Given the description of an element on the screen output the (x, y) to click on. 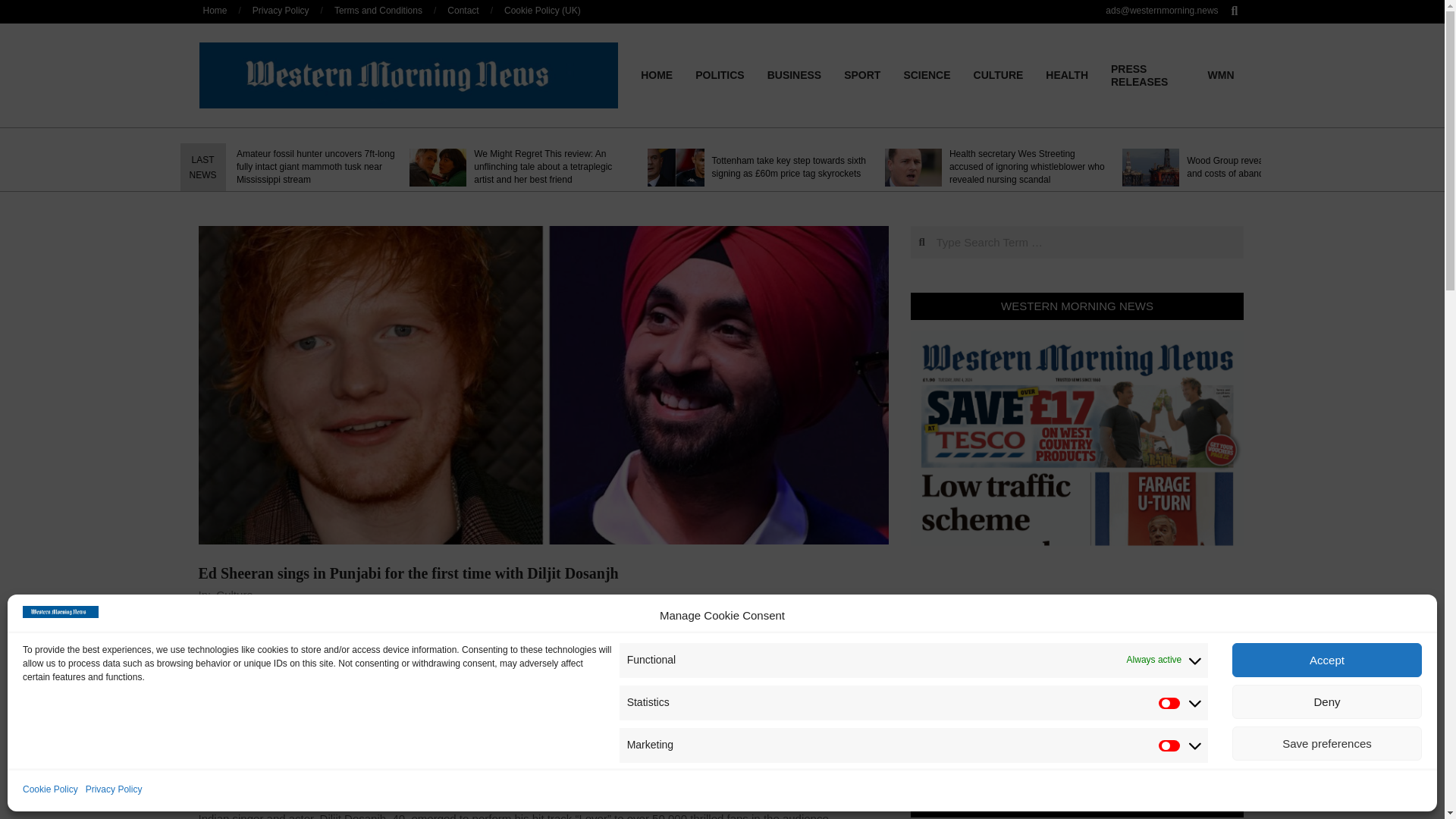
Terms and Conditions (378, 9)
Privacy Policy (113, 790)
HOME (656, 74)
Contact (462, 9)
WMN (1221, 74)
BUSINESS (793, 74)
Accept (1326, 659)
